Given the description of an element on the screen output the (x, y) to click on. 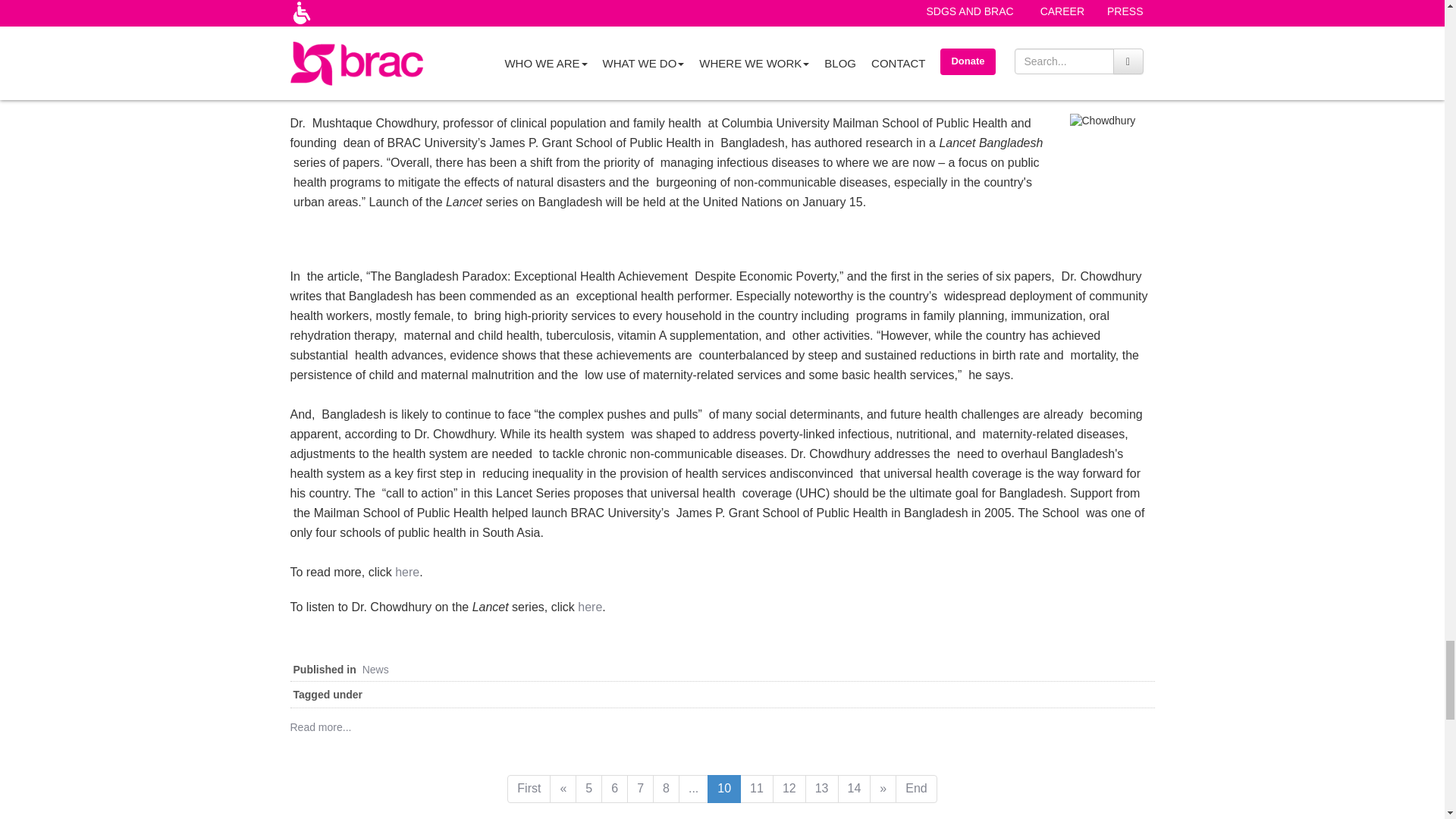
13 (821, 788)
5 (588, 788)
11 (756, 788)
Prev (563, 788)
14 (853, 788)
7 (640, 788)
Start (528, 788)
8 (665, 788)
End (915, 788)
9 (692, 788)
